Given the description of an element on the screen output the (x, y) to click on. 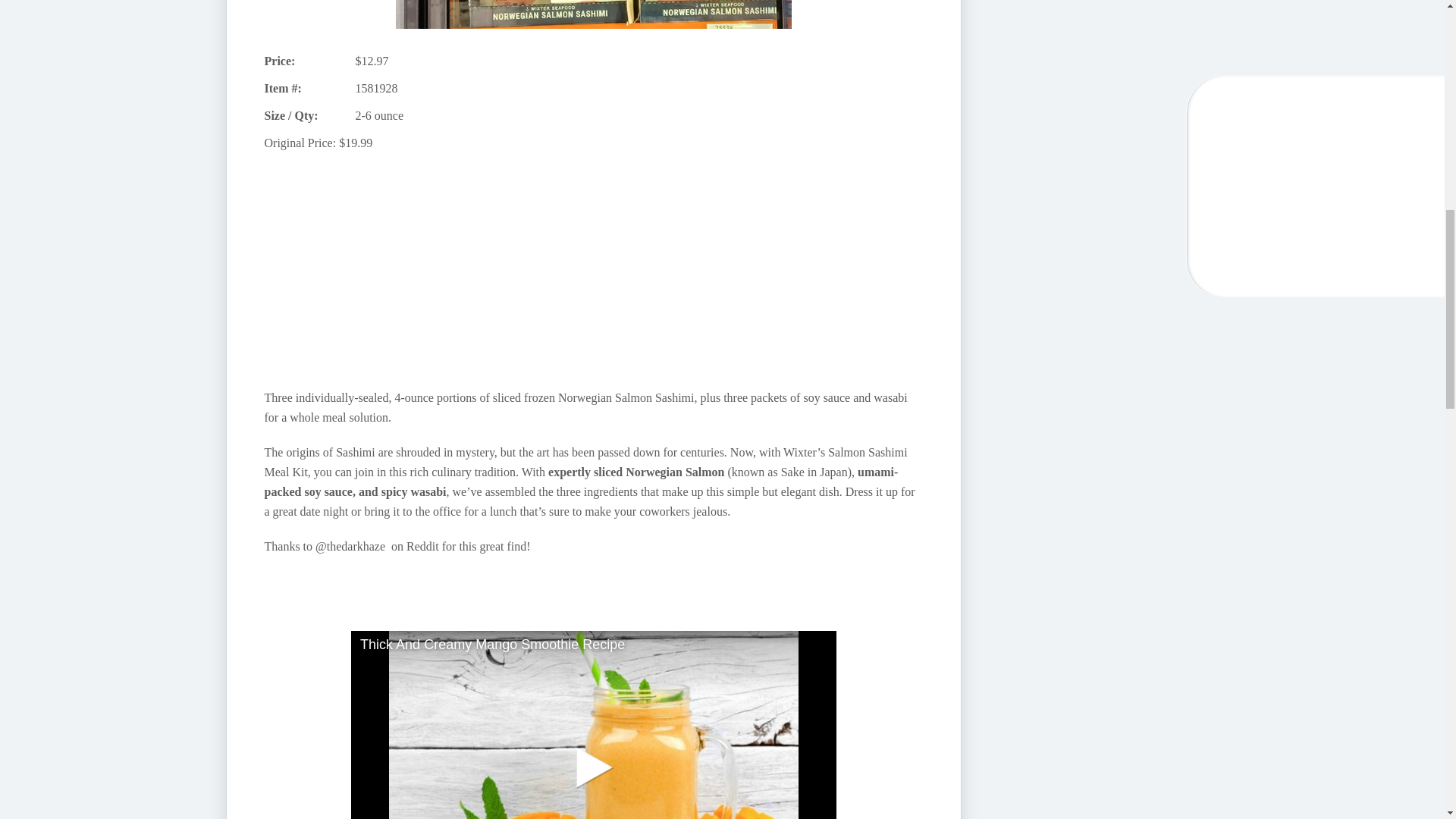
Play Video (593, 766)
Play Video (592, 724)
